Given the description of an element on the screen output the (x, y) to click on. 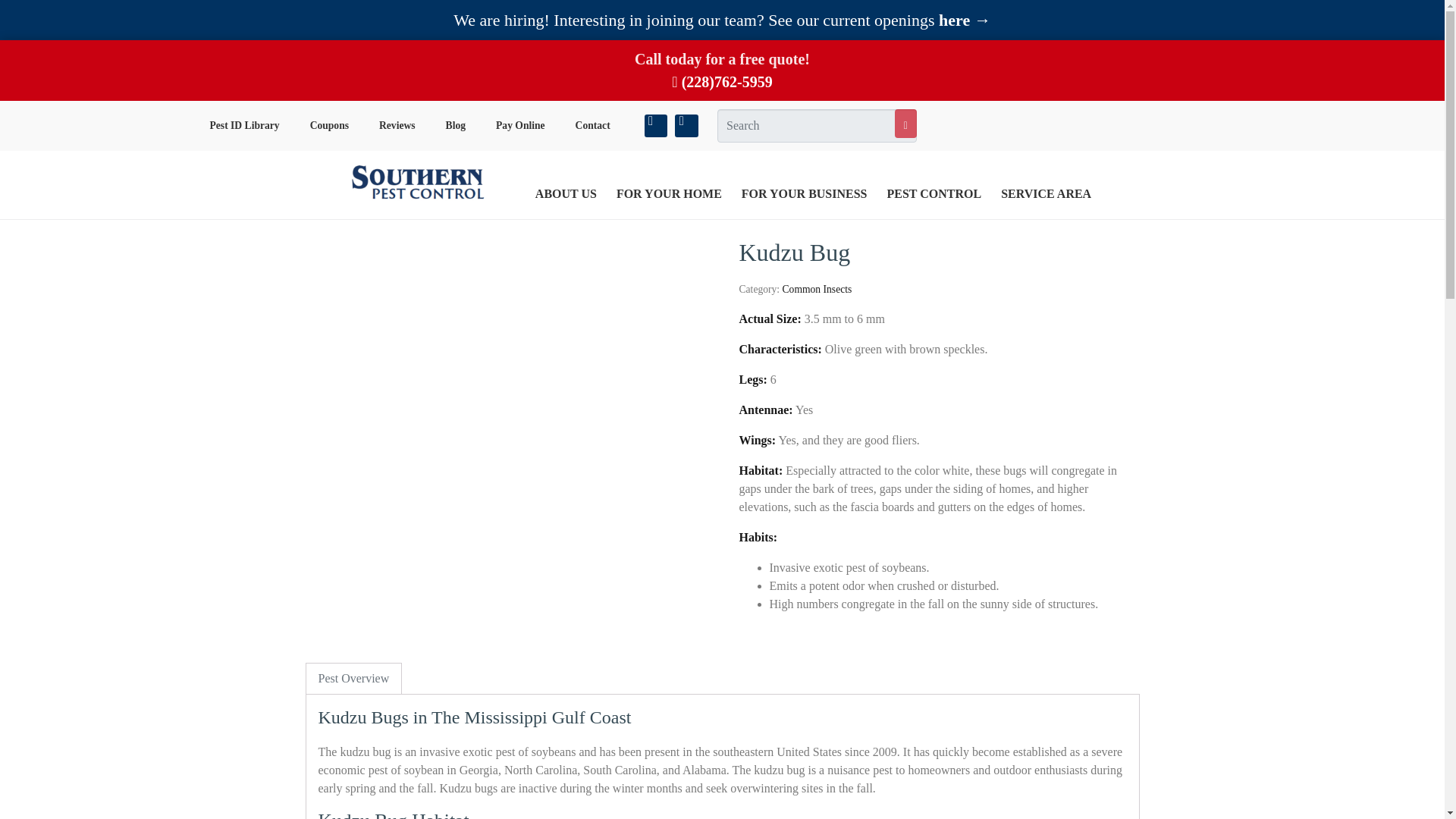
Blog (455, 125)
FOR YOUR HOME (669, 193)
ABOUT US (566, 193)
Coupons (329, 125)
Pest ID Library (243, 125)
FOR YOUR BUSINESS (804, 193)
Reviews (397, 125)
Pay Online (520, 125)
Contact (593, 125)
